Given the description of an element on the screen output the (x, y) to click on. 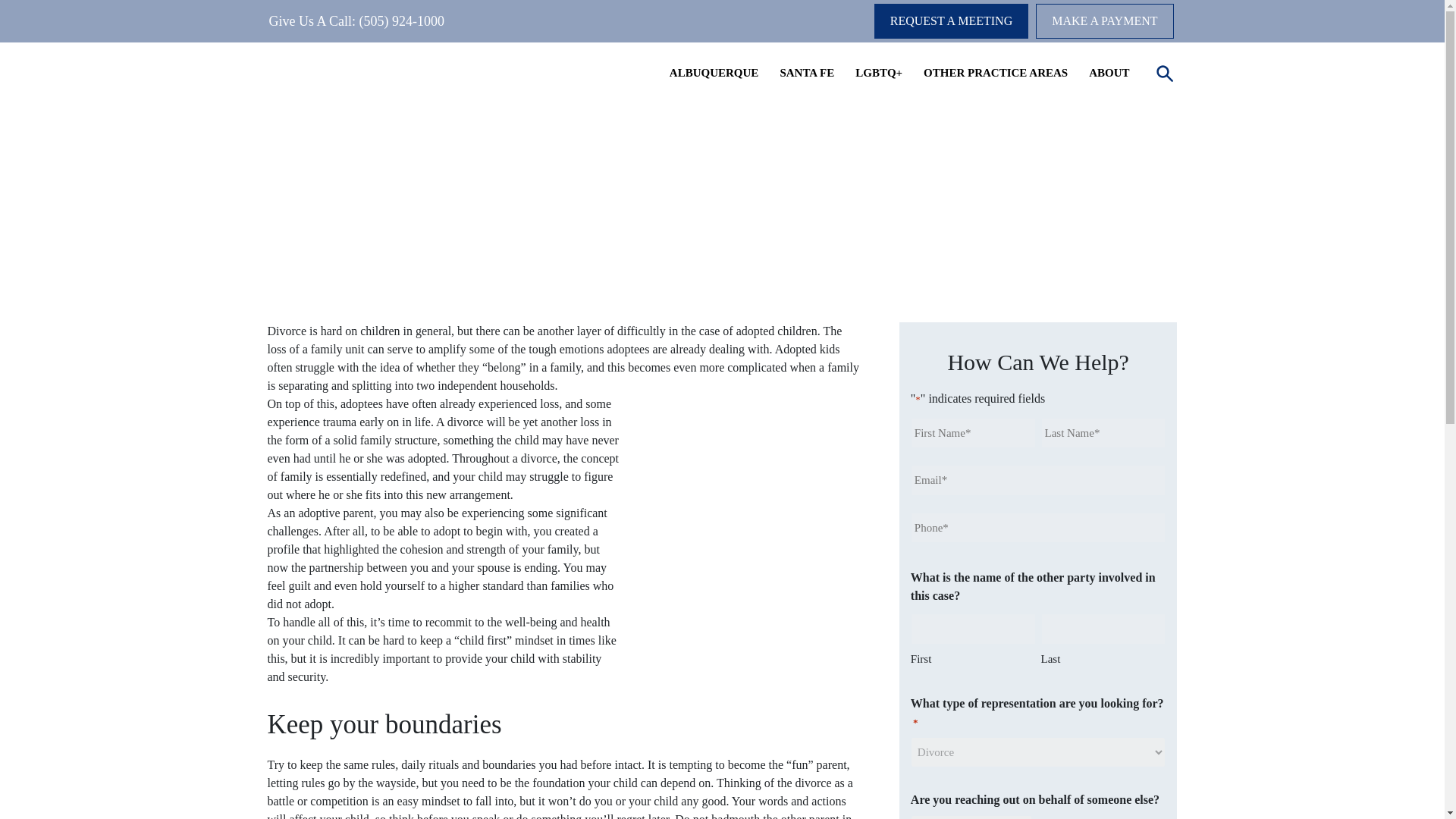
ALBUQUERQUE (713, 72)
OTHER PRACTICE AREAS (995, 72)
REQUEST A MEETING (951, 21)
MAKE A PAYMENT (1104, 21)
SANTA FE (807, 72)
